Given the description of an element on the screen output the (x, y) to click on. 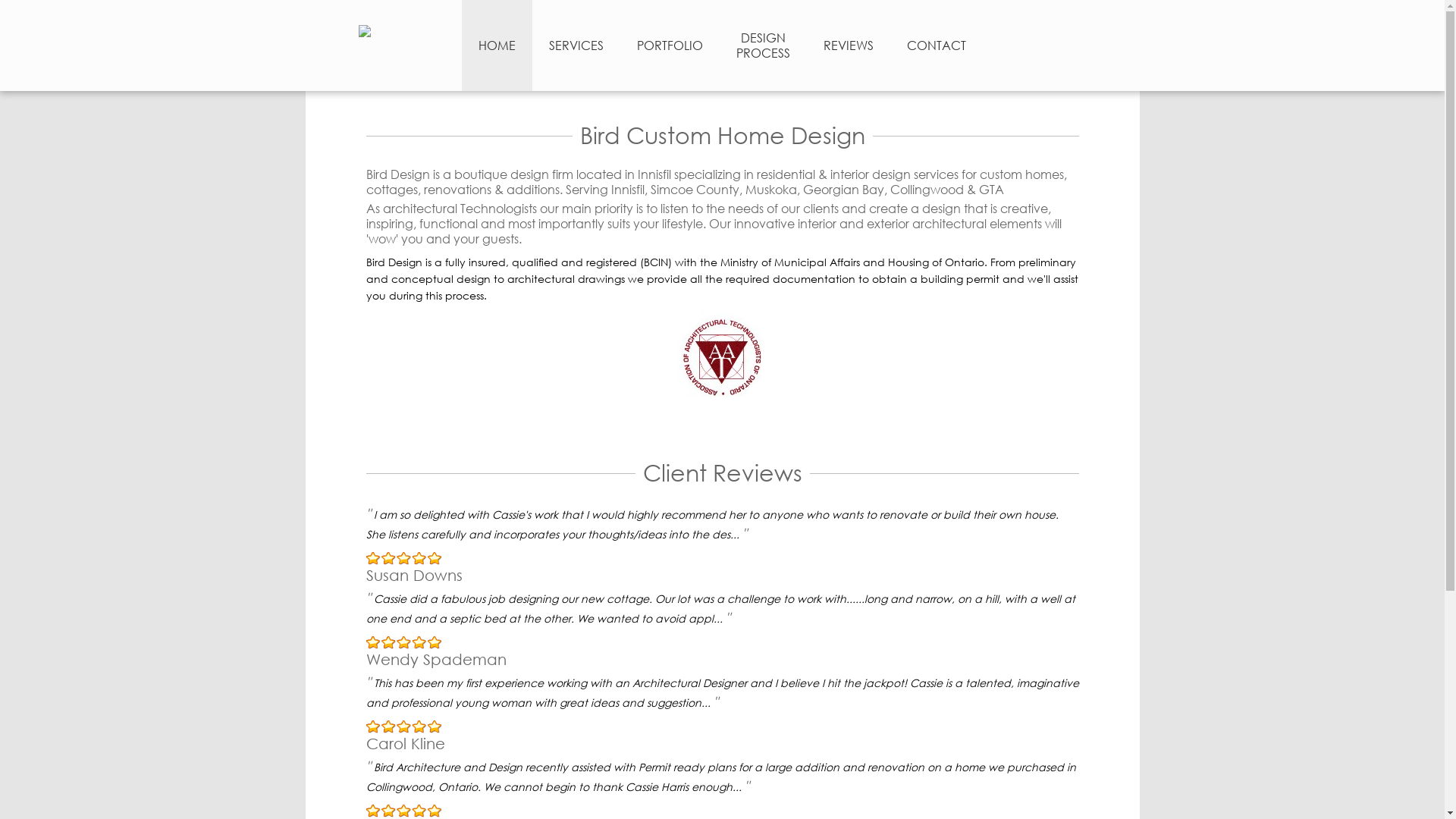
HOME Element type: text (496, 45)
REVIEWS Element type: text (848, 45)
SERVICES Element type: text (576, 45)
DESIGN
PROCESS Element type: text (762, 49)
CONTACT Element type: text (936, 45)
PORTFOLIO Element type: text (669, 45)
